Given the description of an element on the screen output the (x, y) to click on. 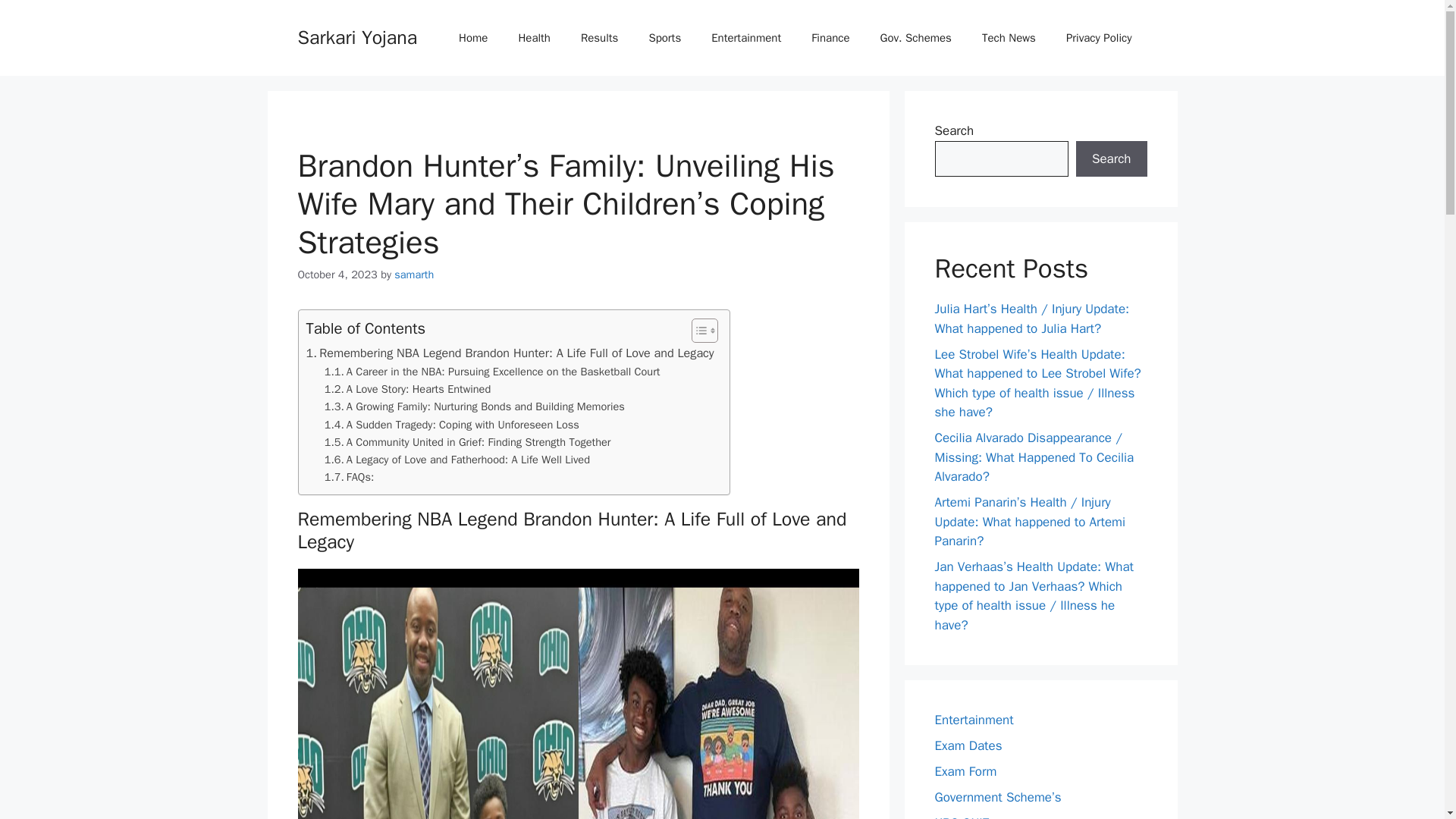
Exam Form (964, 771)
Entertainment (973, 719)
Tech News (1008, 37)
A Community United in Grief: Finding Strength Together (467, 442)
Privacy Policy (1099, 37)
samarth (413, 274)
KBC QUIZ (961, 816)
Search (1111, 158)
Exam Dates (967, 745)
Home (473, 37)
Sports (664, 37)
Entertainment (745, 37)
A Legacy of Love and Fatherhood: A Life Well Lived (456, 459)
A Growing Family: Nurturing Bonds and Building Memories (474, 406)
Gov. Schemes (915, 37)
